Given the description of an element on the screen output the (x, y) to click on. 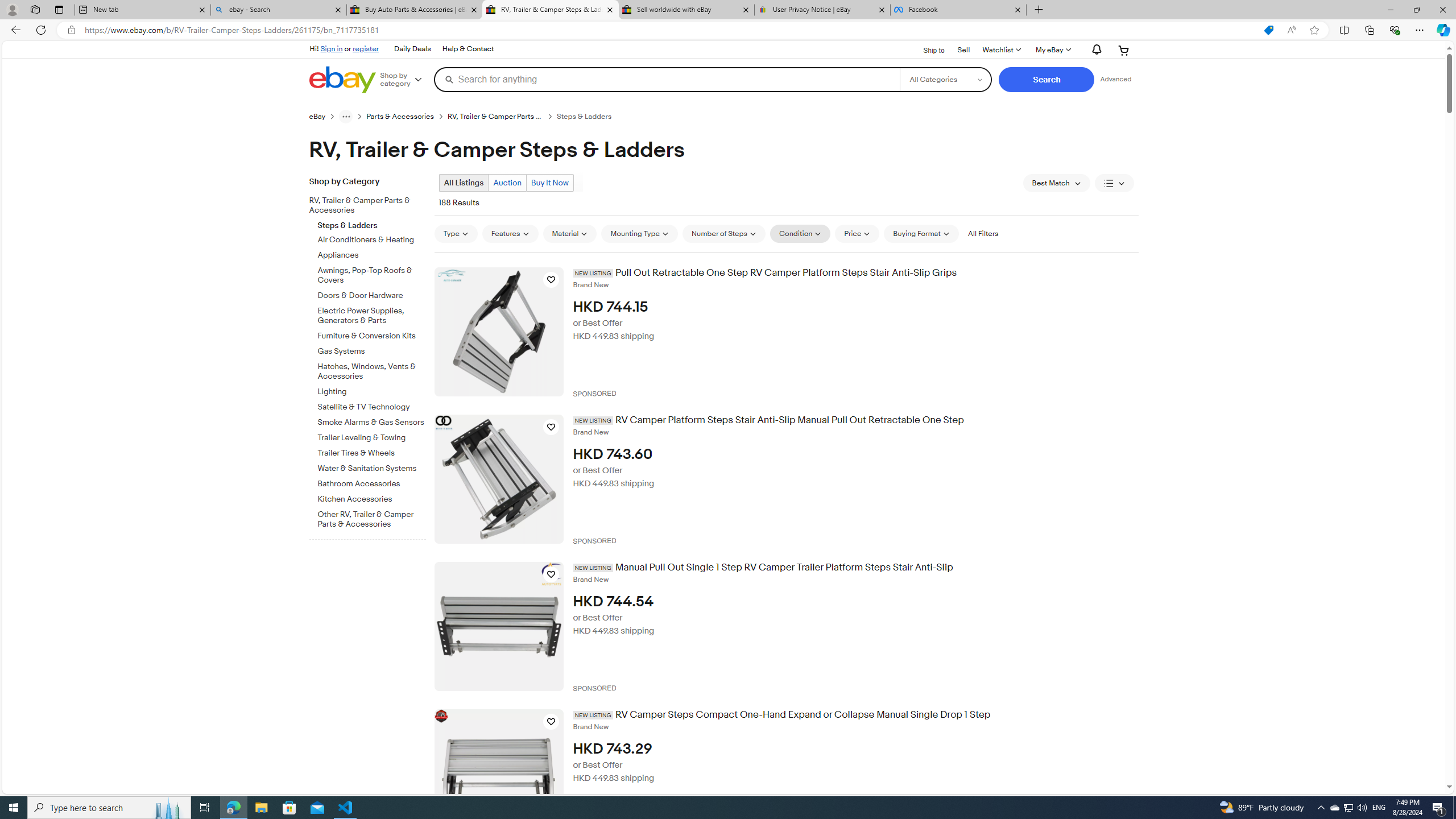
Sell (963, 49)
register (366, 48)
Buy It Now (549, 182)
Satellite & TV Technology (371, 404)
Parts & Accessories (407, 116)
Trailer Leveling & Towing (371, 435)
Appliances (371, 255)
Trailer Tires & Wheels (371, 450)
Kitchen Accessories (371, 499)
Search for anything (666, 78)
